Given the description of an element on the screen output the (x, y) to click on. 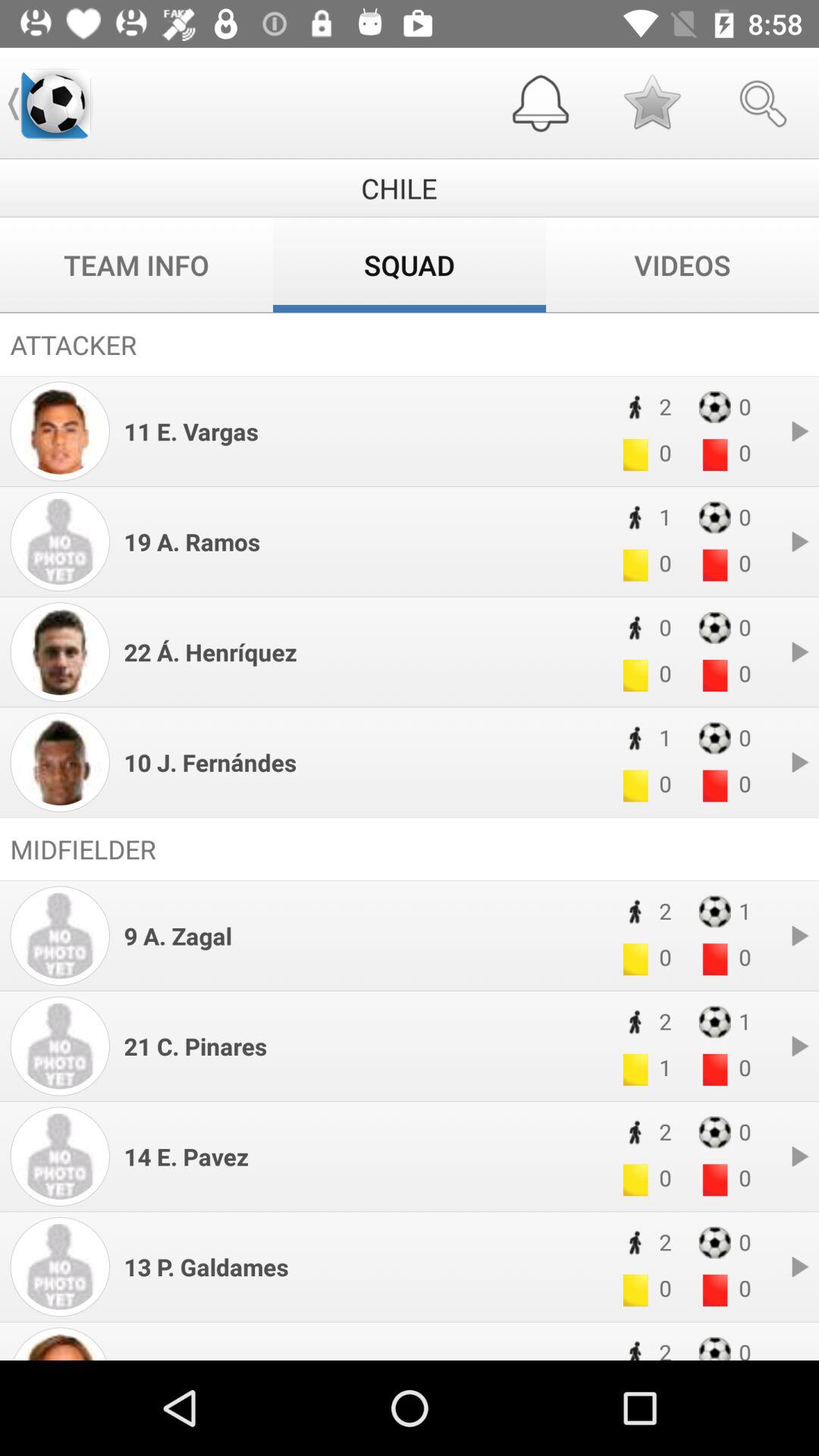
select the pause button in the bottom of the page (798, 1266)
select the fourth football icon from the mid fielder (715, 1243)
select the red box of 13 p galdames (715, 1290)
click on the forward icon of 19 aramos (798, 541)
click on the yellow box of 11 e vargas (635, 454)
select the black icon in the bottom page (635, 1347)
